Given the description of an element on the screen output the (x, y) to click on. 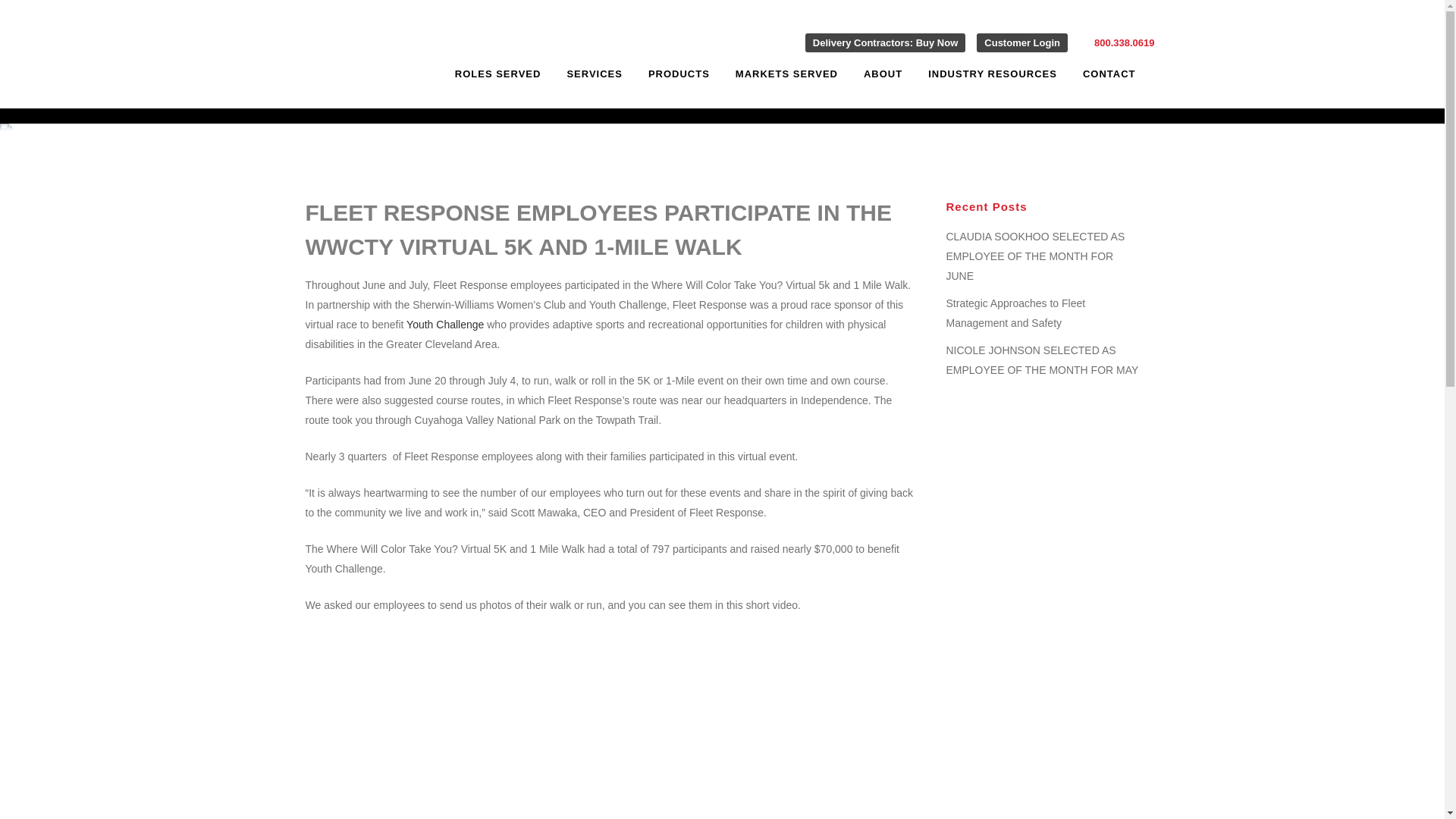
PRODUCTS (678, 74)
ROLES SERVED (498, 74)
800.338.0619 (1124, 42)
Delivery Contractors: Buy Now (885, 42)
SERVICES (593, 74)
MARKETS SERVED (786, 74)
Customer Login (1021, 42)
ABOUT (882, 74)
Video Player (486, 717)
